Given the description of an element on the screen output the (x, y) to click on. 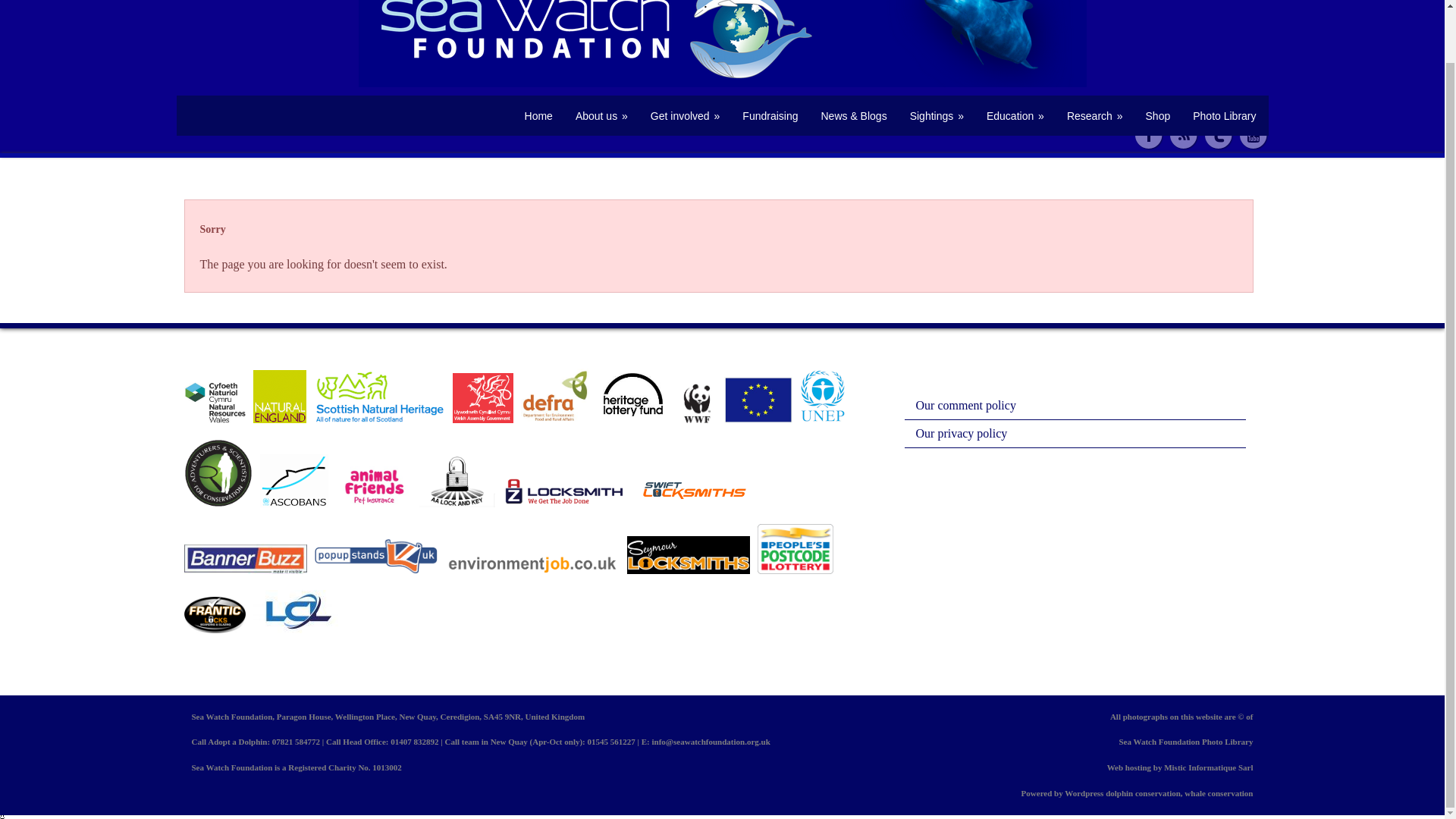
Home (538, 116)
Fundraising (769, 116)
Sea Watch Foundation (538, 116)
Whale and dolphin conservation volunteering (685, 116)
About Sea Watch Foundation (601, 116)
